Given the description of an element on the screen output the (x, y) to click on. 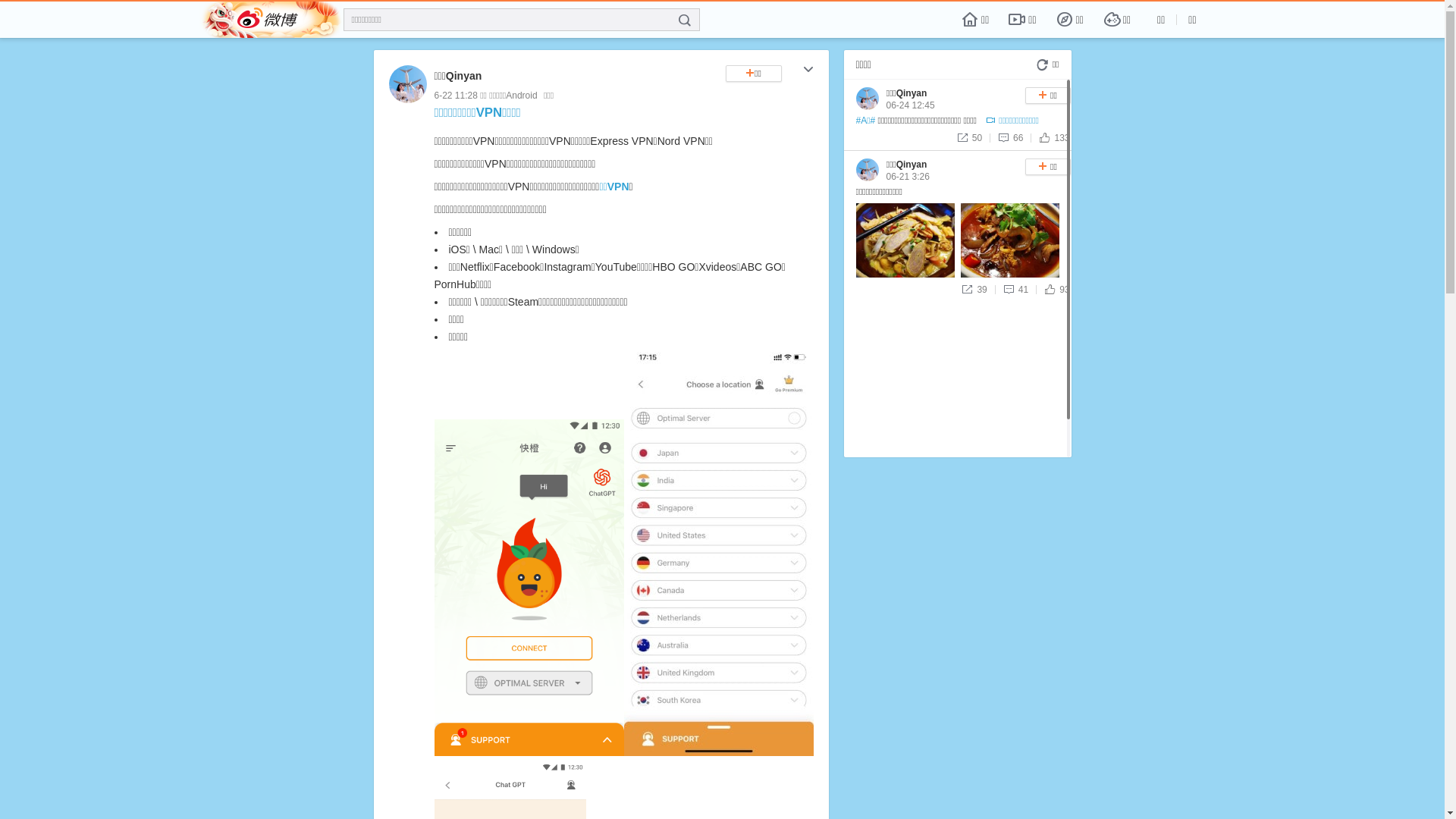
f Element type: text (684, 20)
06-24 12:45 Element type: text (909, 105)
c Element type: text (808, 70)
06-21 3:26 Element type: text (906, 176)
6-22 11:28 Element type: text (454, 95)
